Given the description of an element on the screen output the (x, y) to click on. 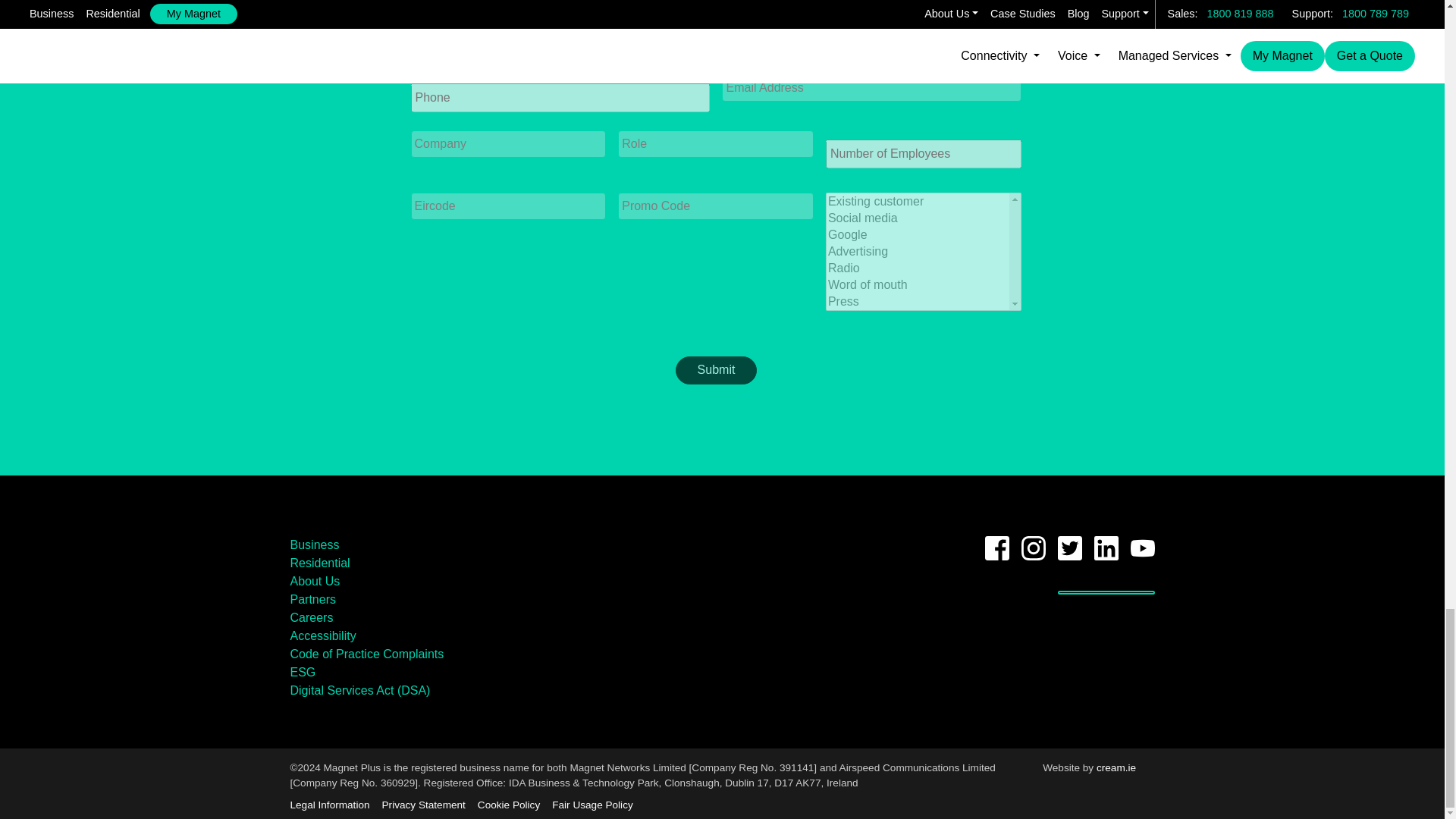
Submit (716, 370)
